Given the description of an element on the screen output the (x, y) to click on. 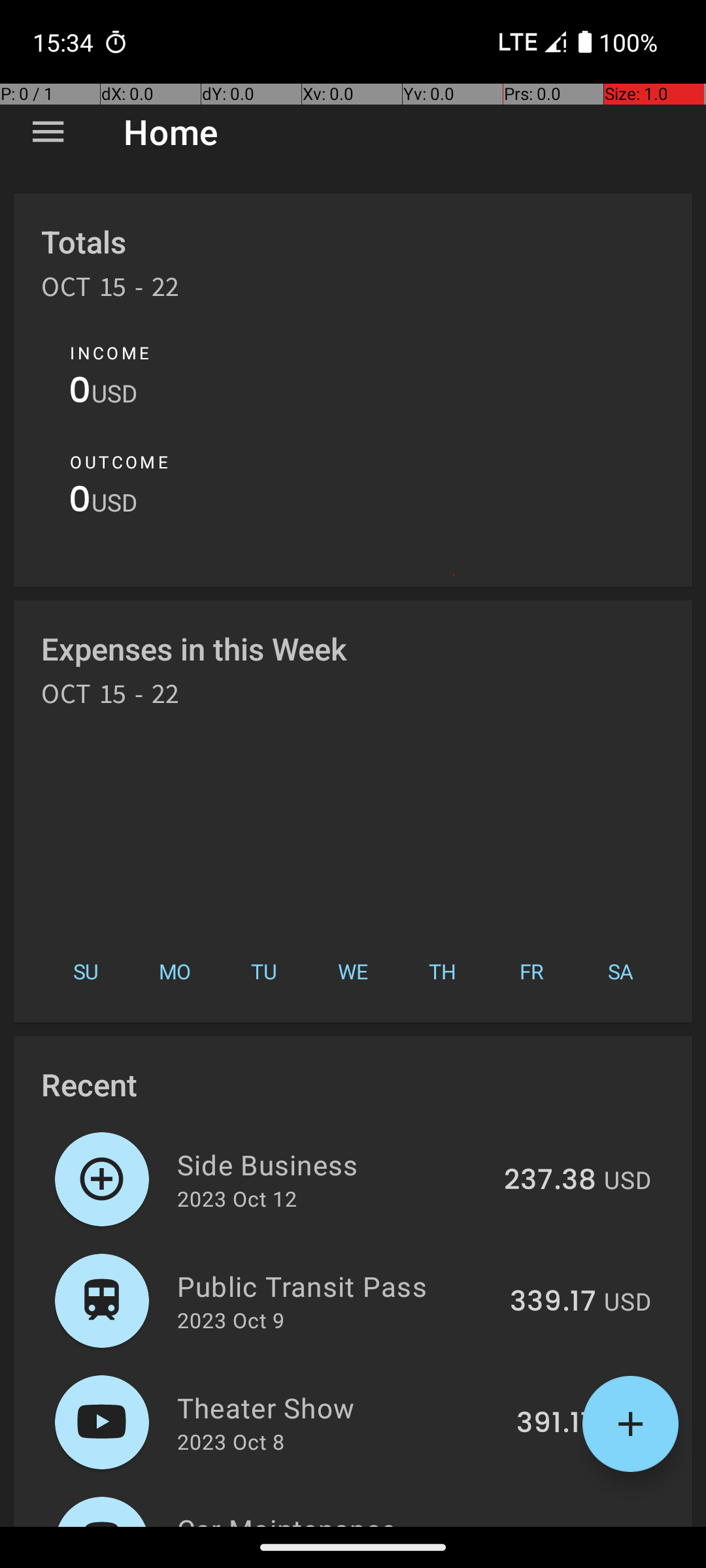
Side Business Element type: android.widget.TextView (332, 1164)
237.38 Element type: android.widget.TextView (549, 1180)
Public Transit Pass Element type: android.widget.TextView (335, 1285)
339.17 Element type: android.widget.TextView (552, 1301)
Theater Show Element type: android.widget.TextView (339, 1407)
2023 Oct 8 Element type: android.widget.TextView (230, 1441)
391.17 Element type: android.widget.TextView (555, 1423)
Car Maintenance Element type: android.widget.TextView (336, 1518)
215.73 Element type: android.widget.TextView (552, 1524)
